Given the description of an element on the screen output the (x, y) to click on. 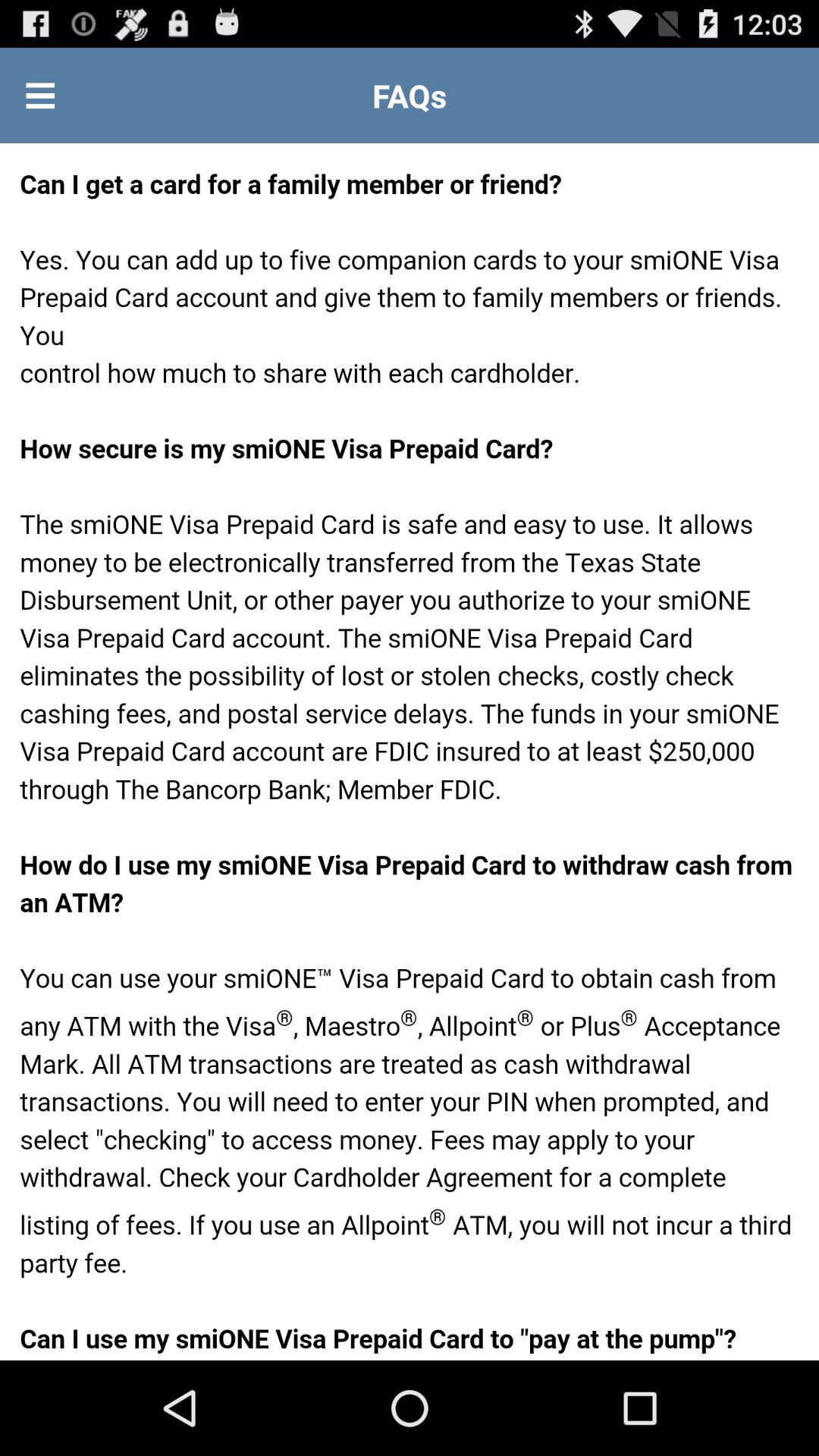
menu bar (39, 95)
